Given the description of an element on the screen output the (x, y) to click on. 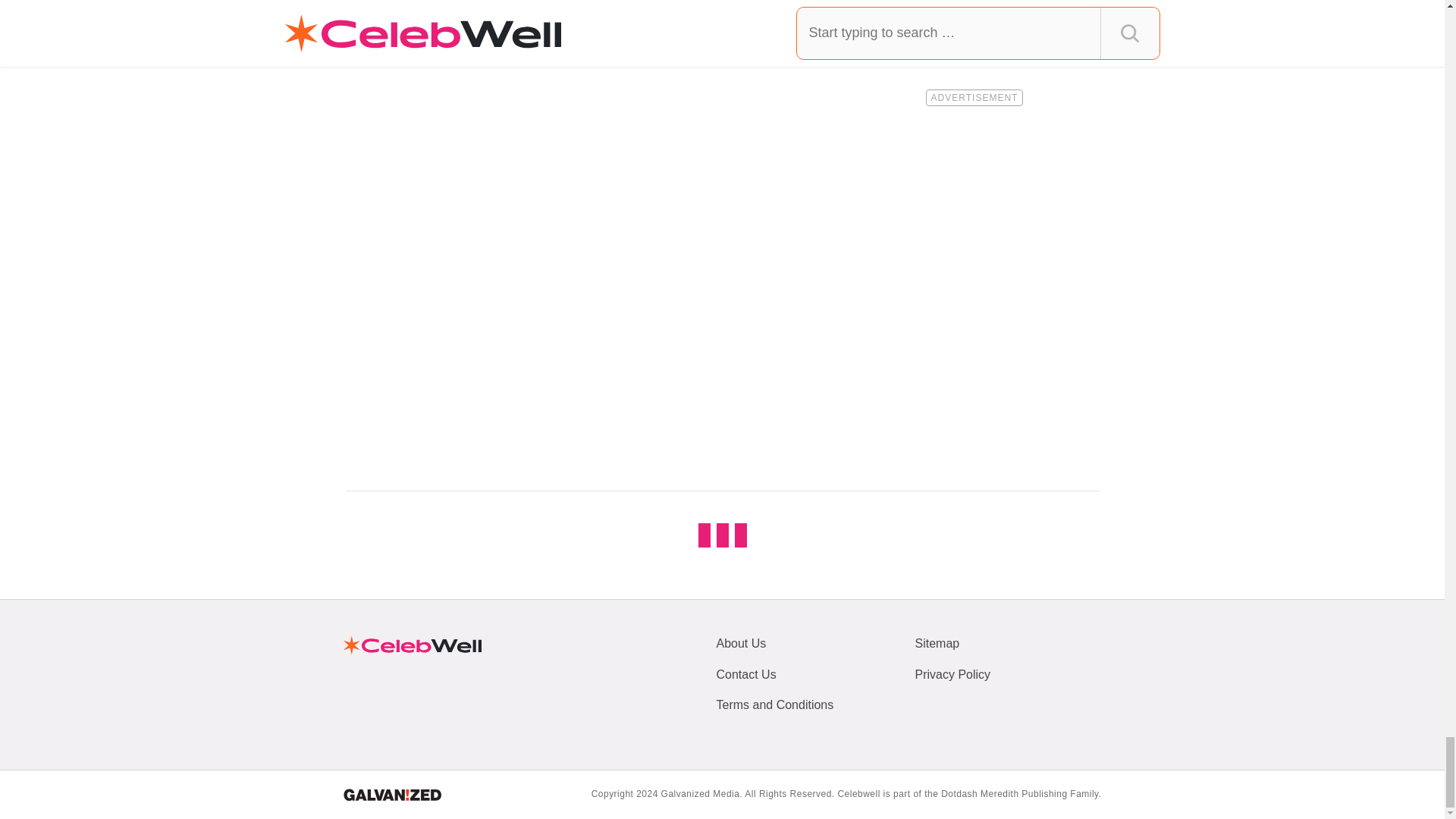
Homepage of Celebwell (411, 644)
Galvanized Media Logo (391, 794)
